Given the description of an element on the screen output the (x, y) to click on. 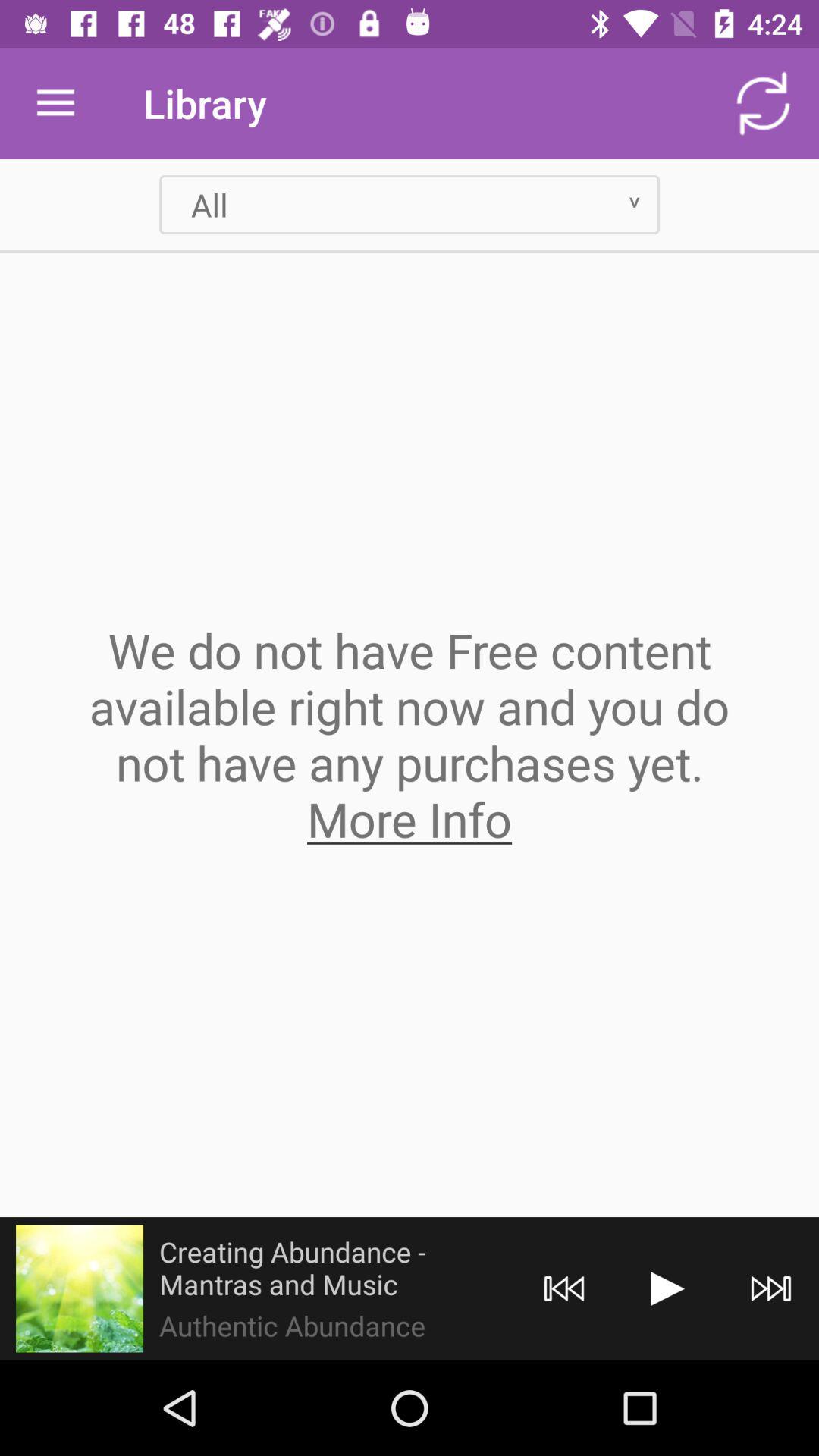
next audio file (771, 1288)
